Given the description of an element on the screen output the (x, y) to click on. 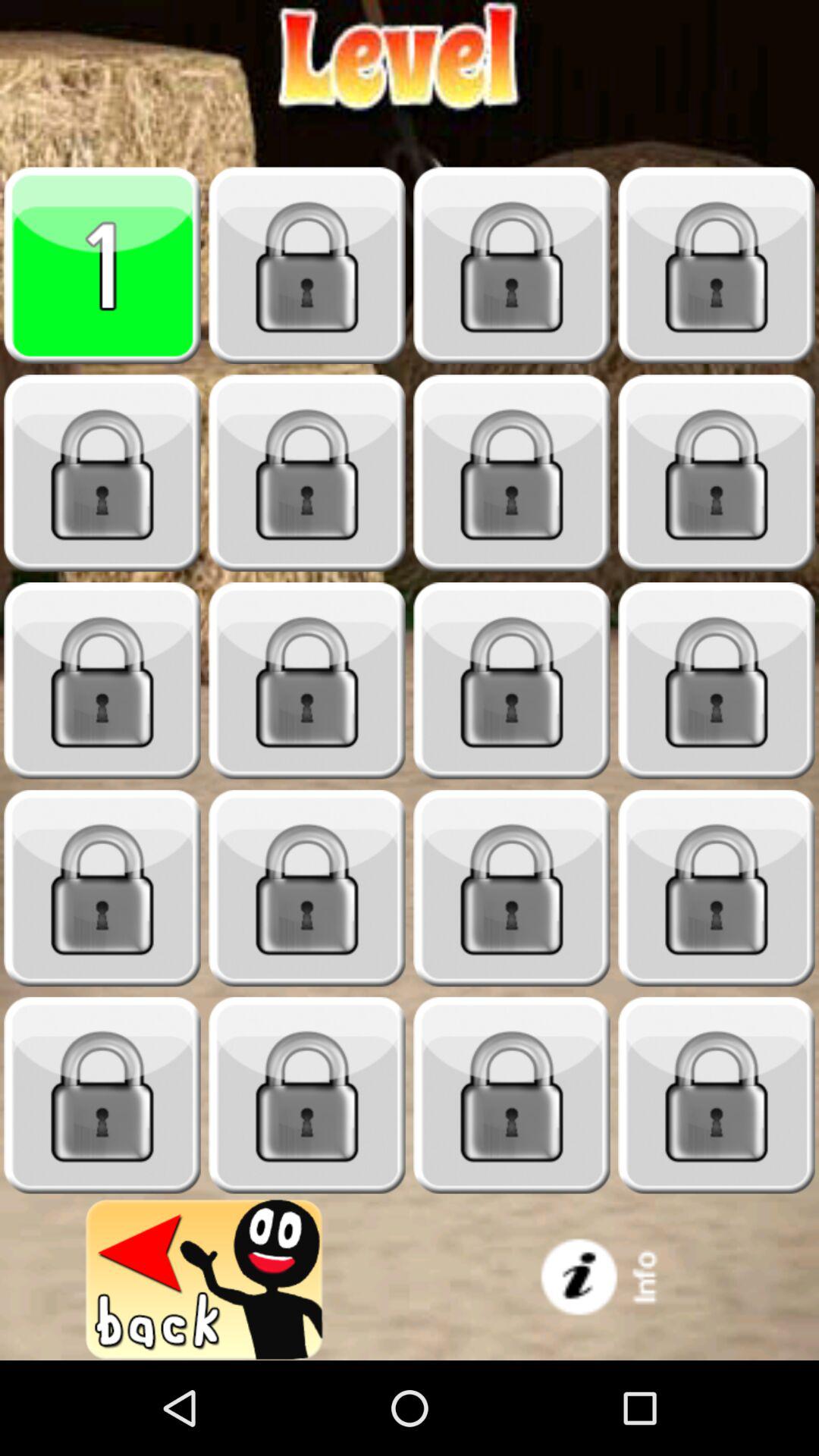
unlock level (511, 265)
